Given the description of an element on the screen output the (x, y) to click on. 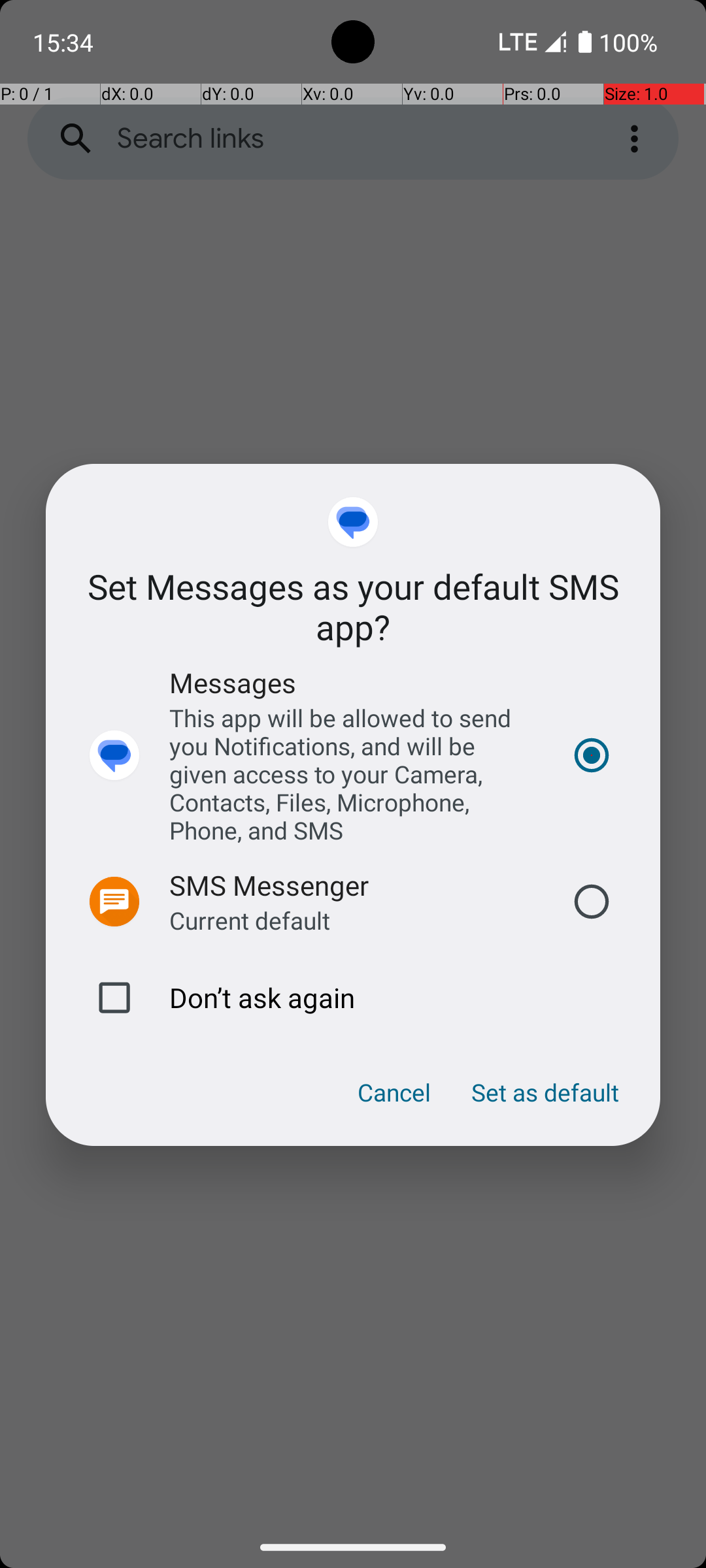
Set Messages as your default SMS app? Element type: android.widget.TextView (352, 606)
Don’t ask again Element type: android.widget.CheckBox (352, 997)
Set as default Element type: android.widget.Button (545, 1091)
This app will be allowed to send you Notifications, and will be given access to your Camera, Contacts, Files, Microphone, Phone, and SMS Element type: android.widget.TextView (352, 773)
Current default Element type: android.widget.TextView (249, 919)
